Given the description of an element on the screen output the (x, y) to click on. 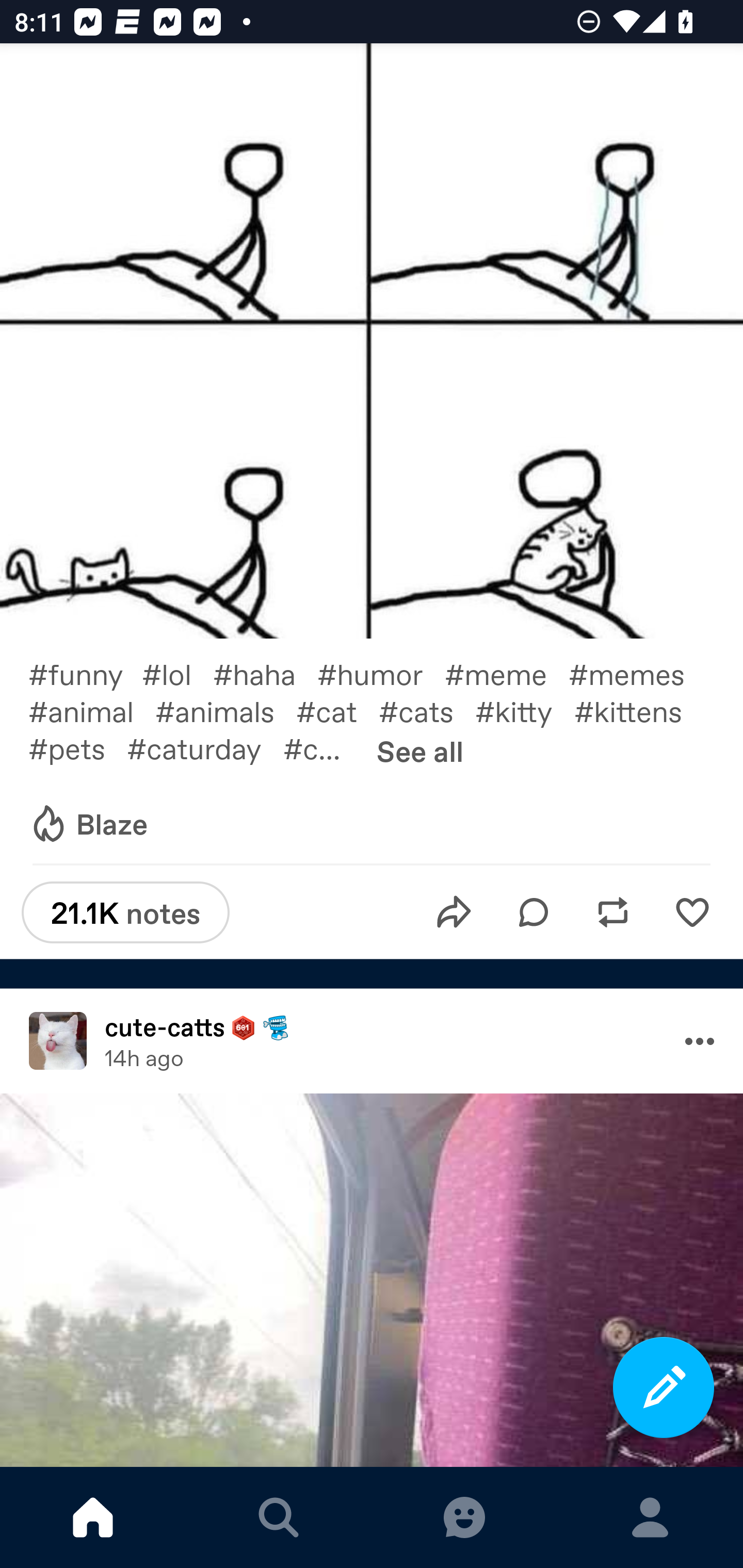
#funny (84, 673)
#lol (177, 673)
#haha (265, 673)
#humor (381, 673)
#meme (506, 673)
#memes (637, 673)
#animal (91, 710)
#animals (225, 710)
#cat (337, 710)
#cats (426, 710)
#kitty (524, 710)
#kittens (638, 710)
#pets (77, 747)
#caturday (205, 747)
#c… (322, 747)
See all (419, 751)
Blaze Blaze Blaze (88, 824)
Share post to message (454, 912)
Reply (533, 912)
Reblog (612, 912)
Like (691, 912)
21.1K notes (125, 912)
Compose a new post (663, 1387)
DASHBOARD (92, 1517)
EXPLORE (278, 1517)
MESSAGES (464, 1517)
ACCOUNT (650, 1517)
